Given the description of an element on the screen output the (x, y) to click on. 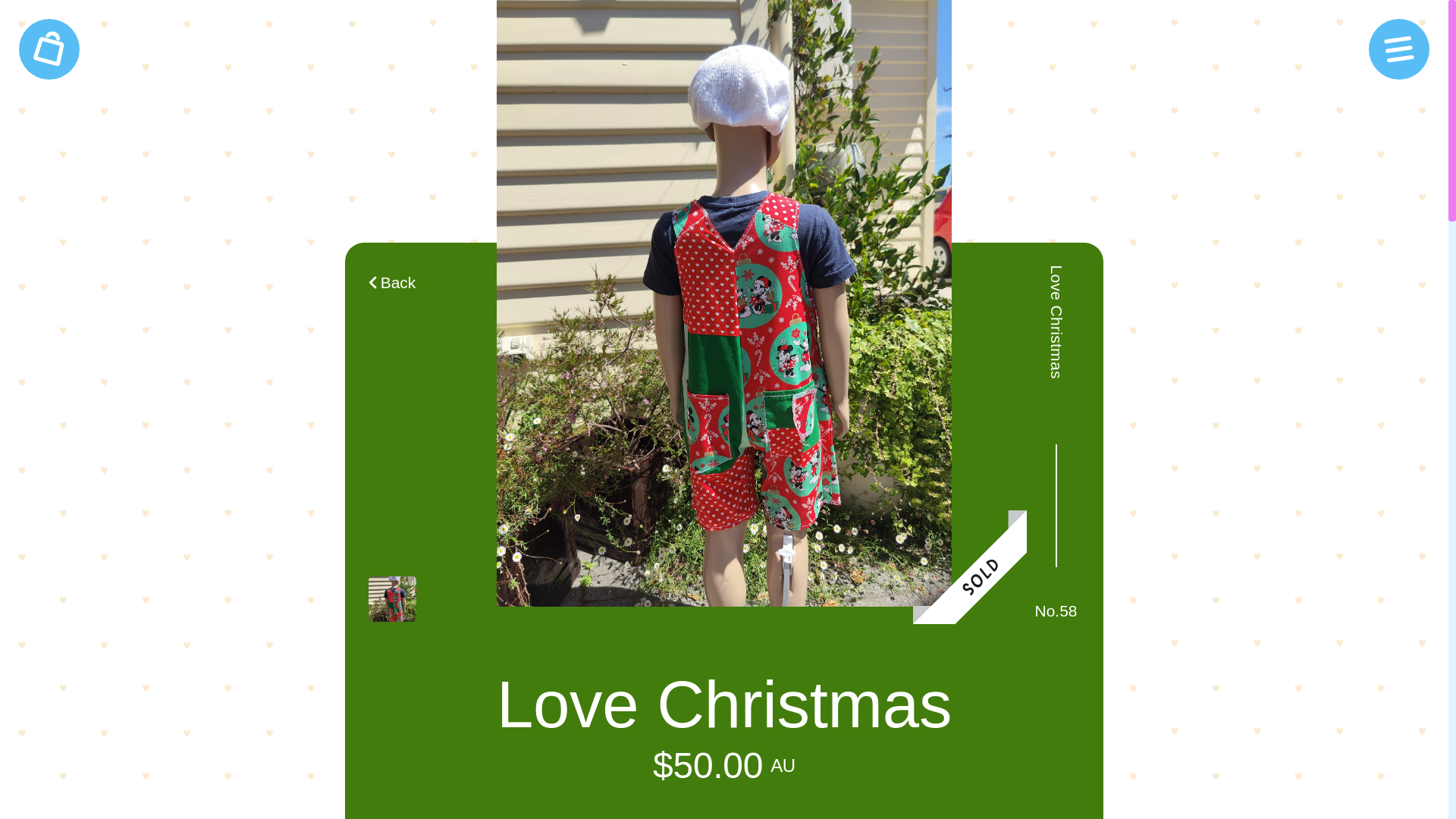
Back (392, 282)
Back (724, 11)
